Given the description of an element on the screen output the (x, y) to click on. 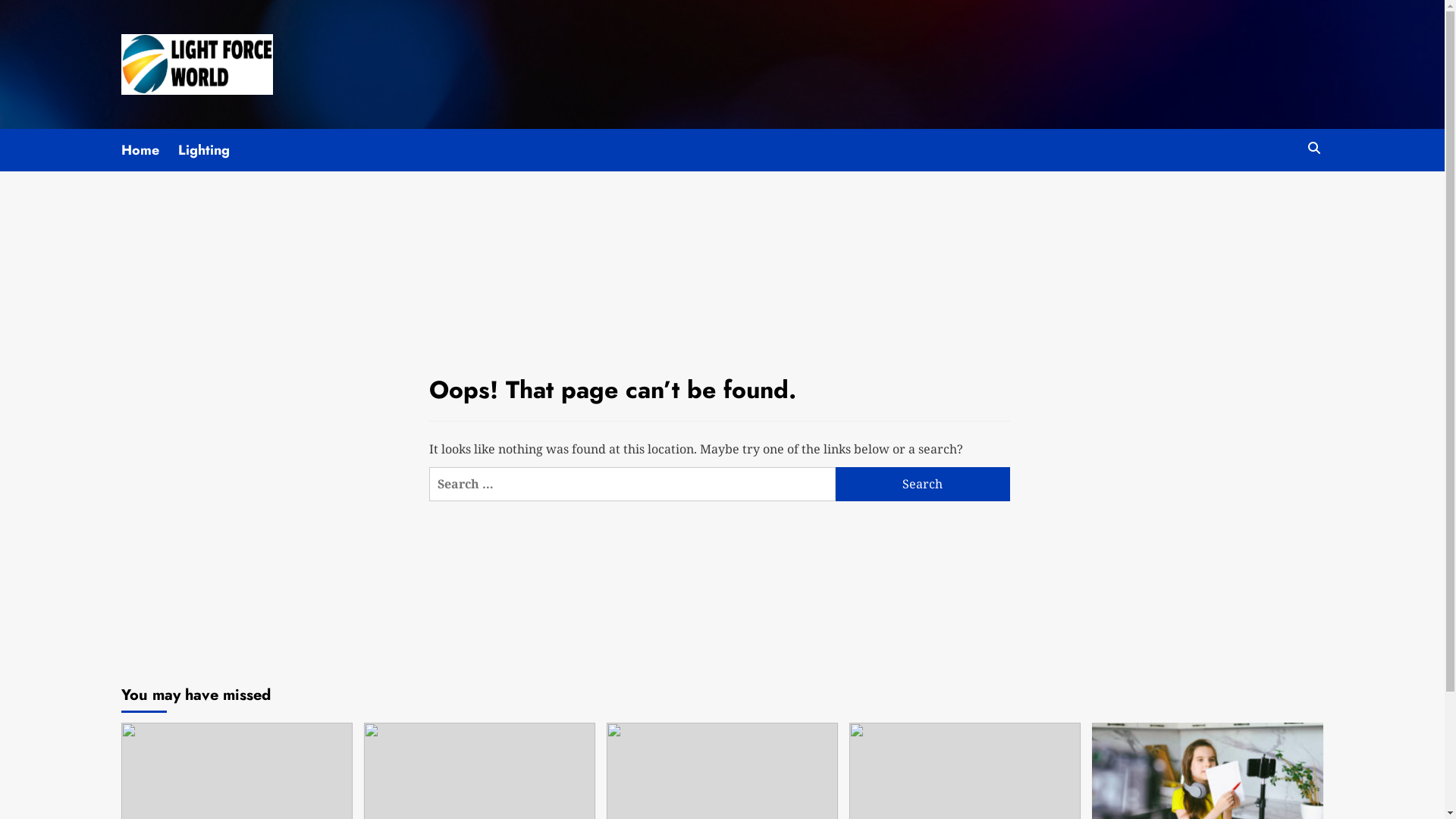
Search Element type: hover (1313, 147)
Search Element type: text (1278, 194)
Lighting Element type: text (213, 149)
Search Element type: text (922, 484)
Home Element type: text (149, 149)
